Given the description of an element on the screen output the (x, y) to click on. 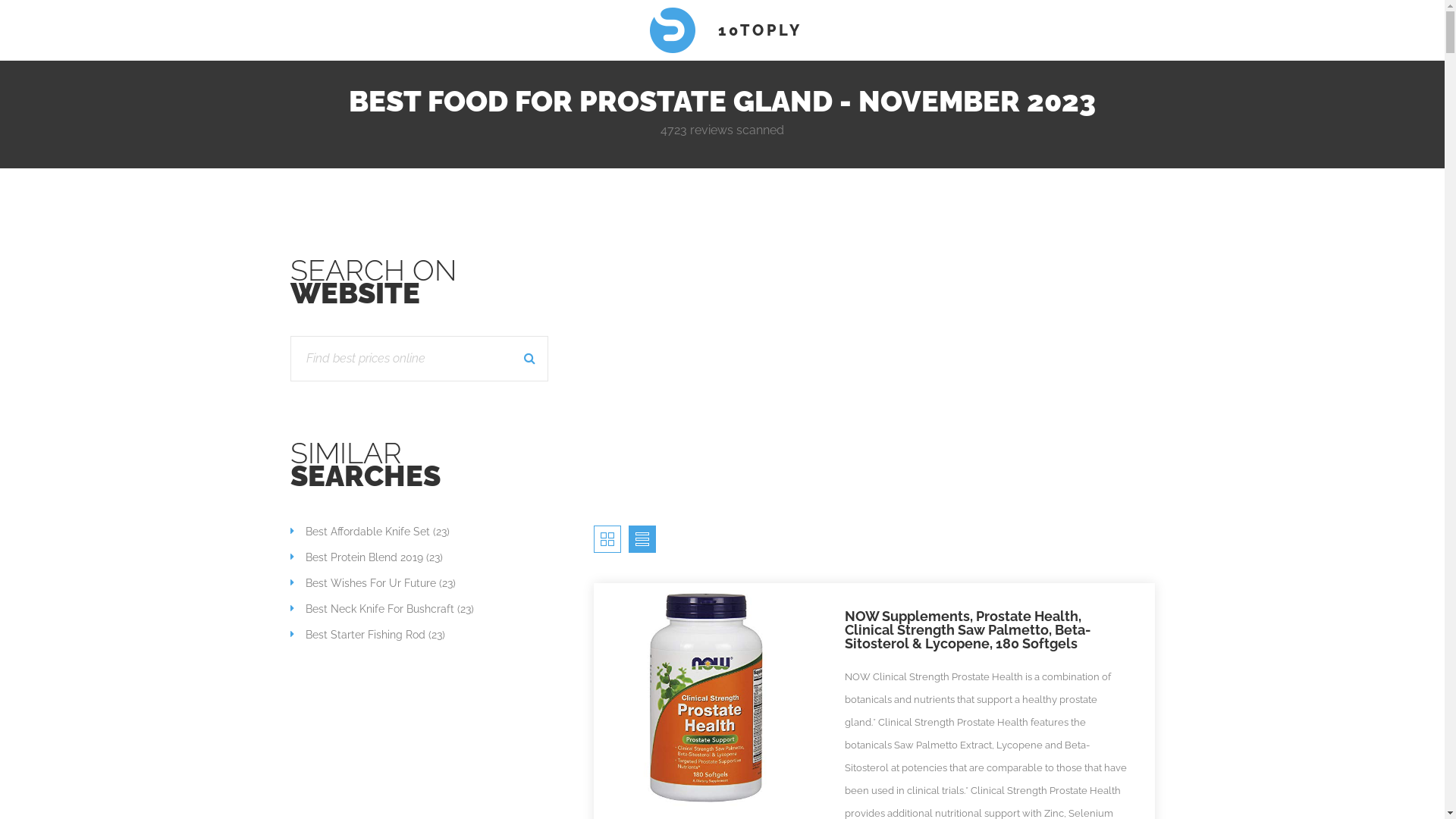
Best Protein Blend 2019 Element type: text (355, 557)
Best Starter Fishing Rod Element type: text (356, 634)
10TOPLY Element type: text (722, 30)
Best Neck Knife For Bushcraft Element type: text (371, 608)
Best Wishes For Ur Future Element type: text (362, 583)
Best Affordable Knife Set Element type: text (359, 531)
SEARCH Element type: text (530, 358)
